Given the description of an element on the screen output the (x, y) to click on. 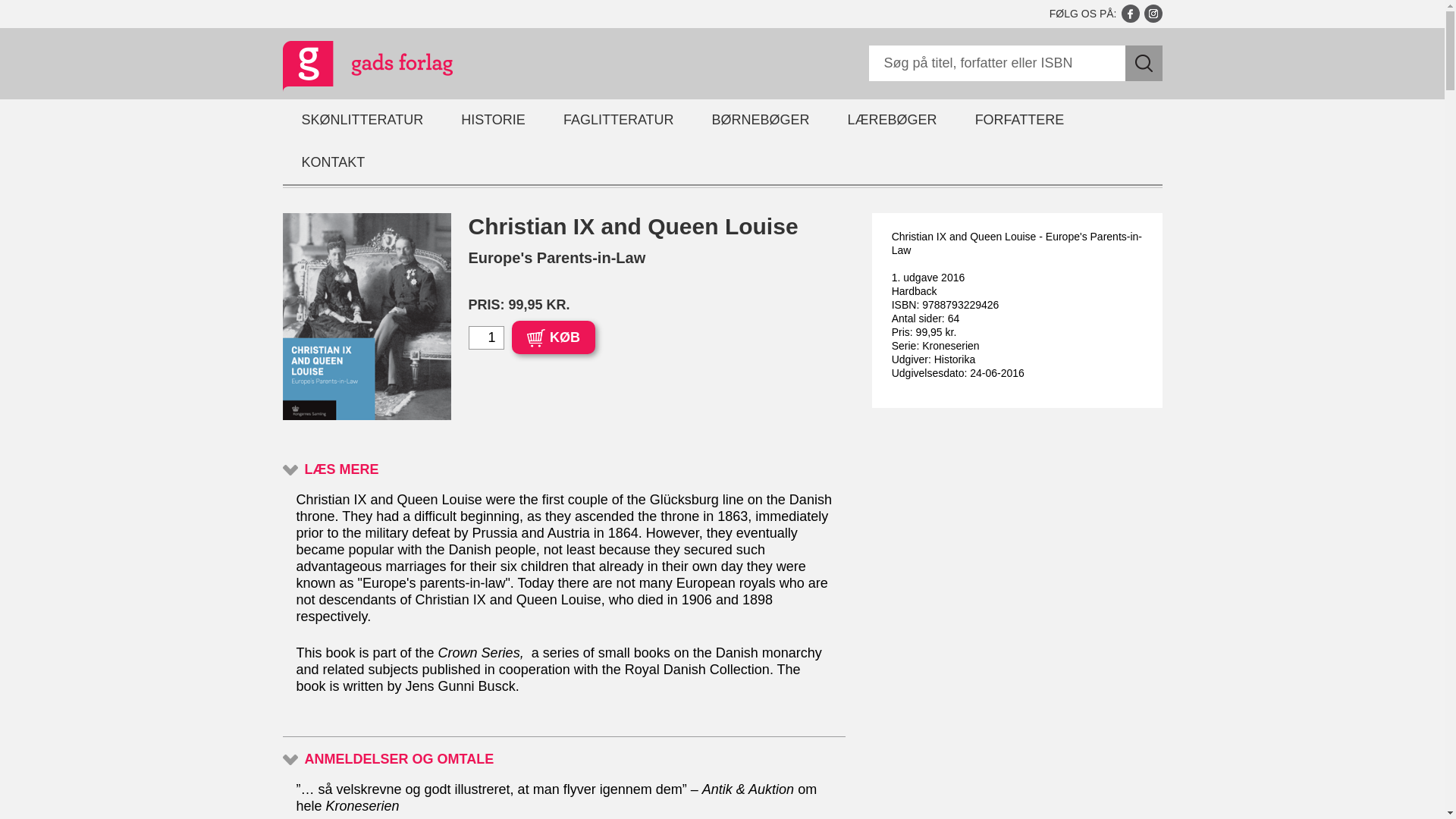
Gads Forlag (351, 67)
HISTORIE (493, 120)
FACEBOOK (1129, 13)
FAGLITTERATUR (618, 120)
1 (485, 337)
INSTAGRAM (1151, 13)
Instagram (1151, 13)
Facebook (1129, 13)
